Given the description of an element on the screen output the (x, y) to click on. 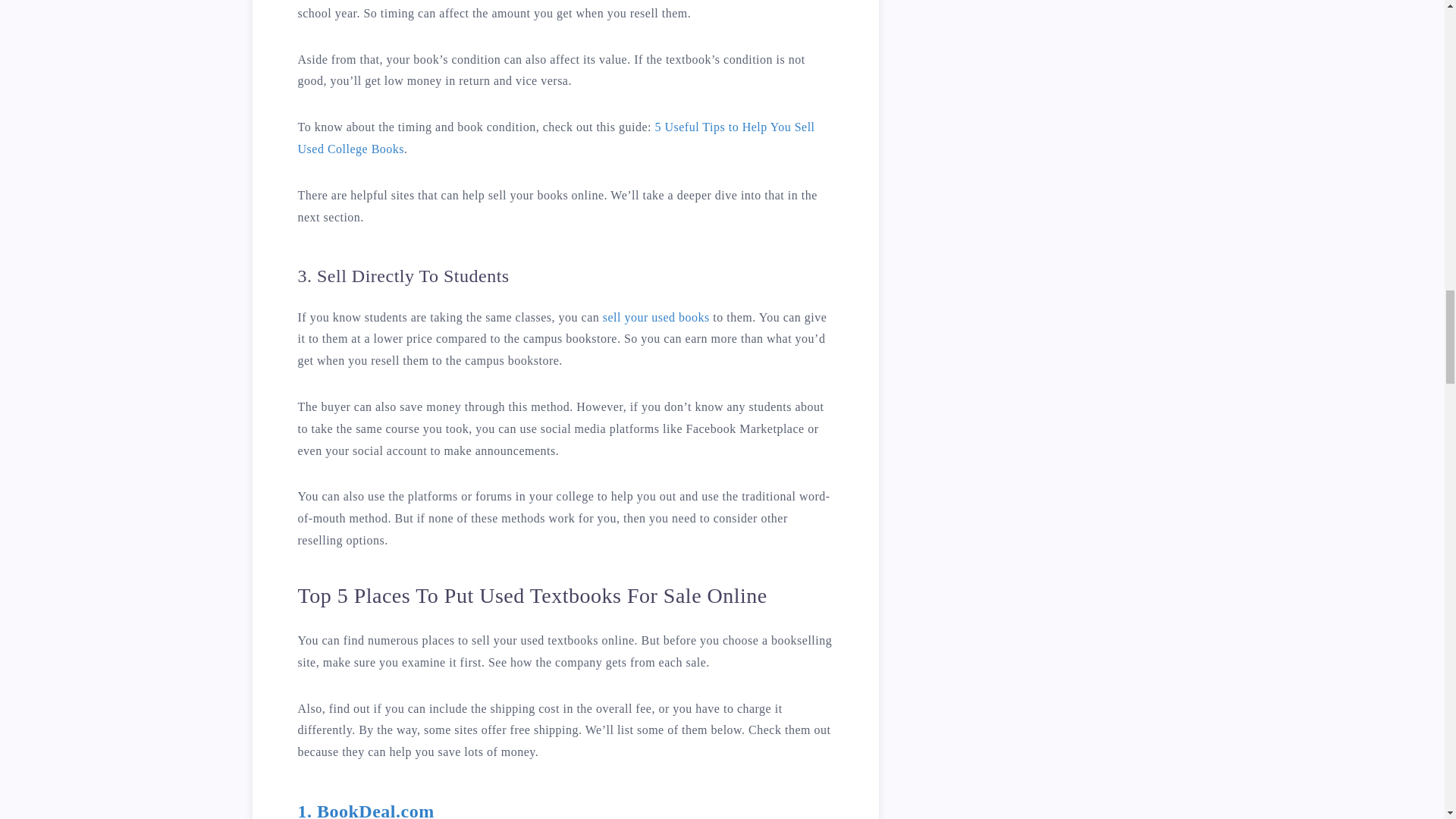
1. BookDeal.com (365, 810)
5 Useful Tips to Help You Sell Used College Books (555, 137)
sell your used books (656, 317)
